Given the description of an element on the screen output the (x, y) to click on. 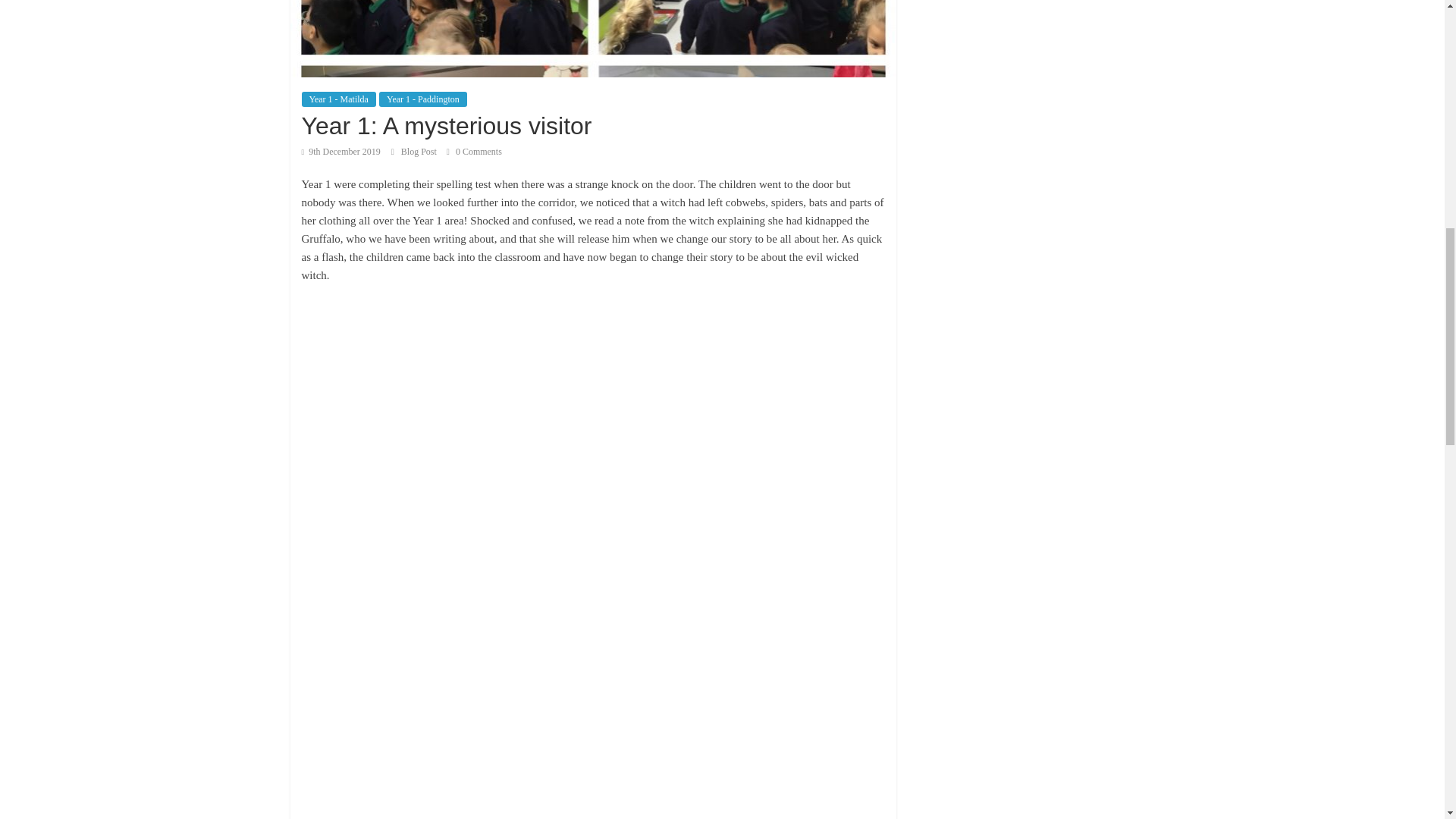
Blog Post (420, 151)
Year 1 - Paddington (422, 99)
0 Comments (474, 151)
9th December 2019 (340, 151)
Blog Post (420, 151)
Year 1 - Matilda (338, 99)
12:53 pm (340, 151)
